Given the description of an element on the screen output the (x, y) to click on. 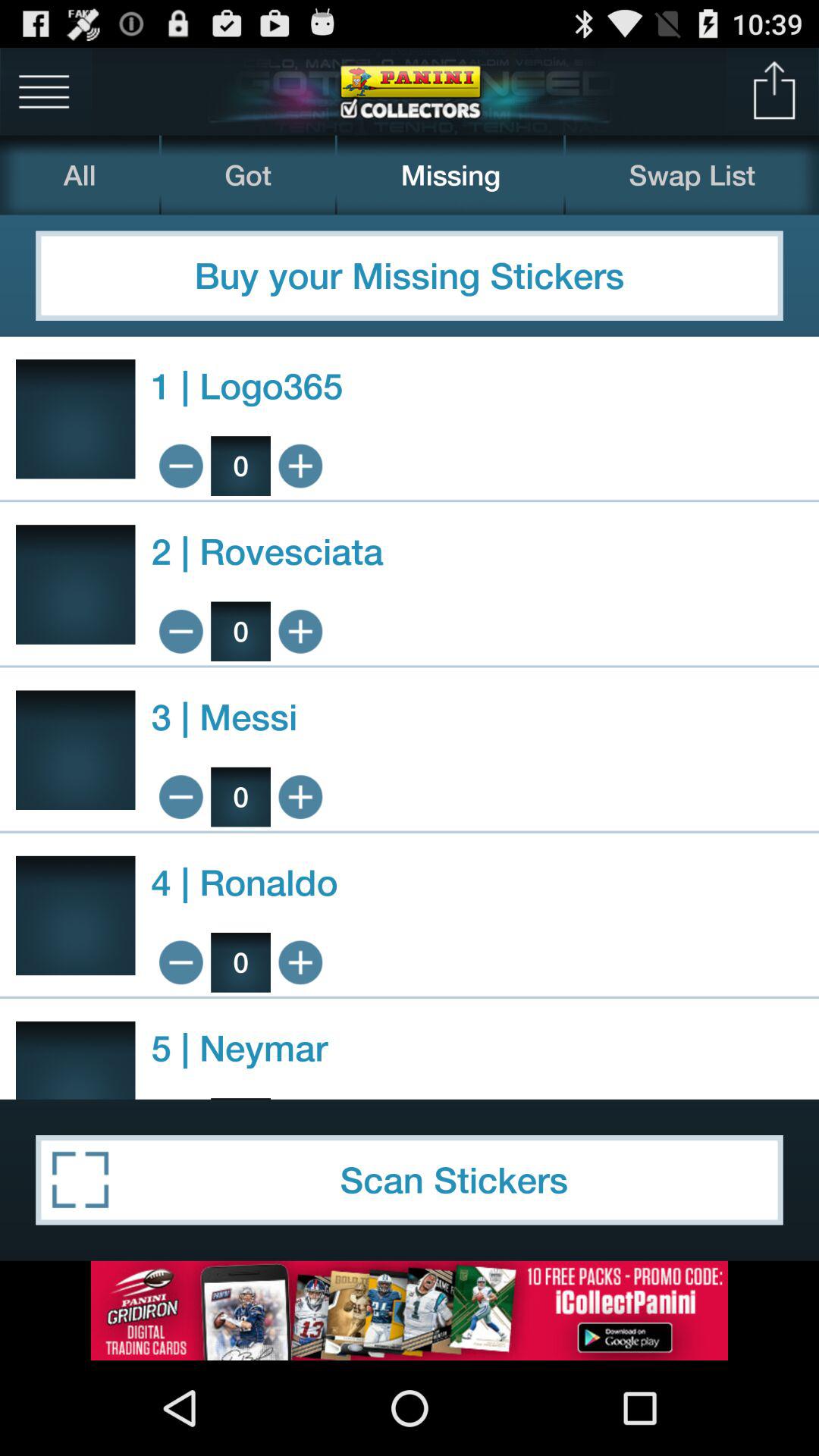
zoom (181, 465)
